Given the description of an element on the screen output the (x, y) to click on. 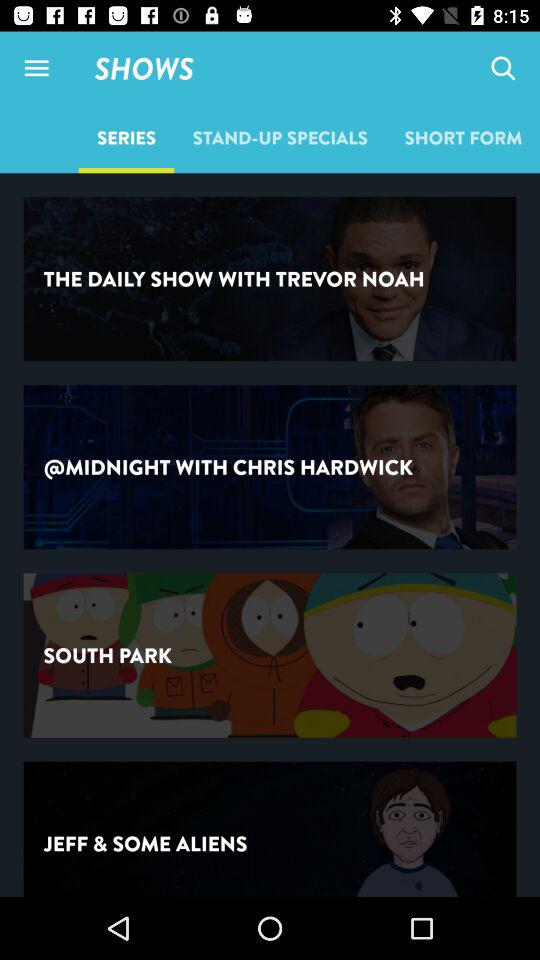
toggle side menu (36, 68)
